Given the description of an element on the screen output the (x, y) to click on. 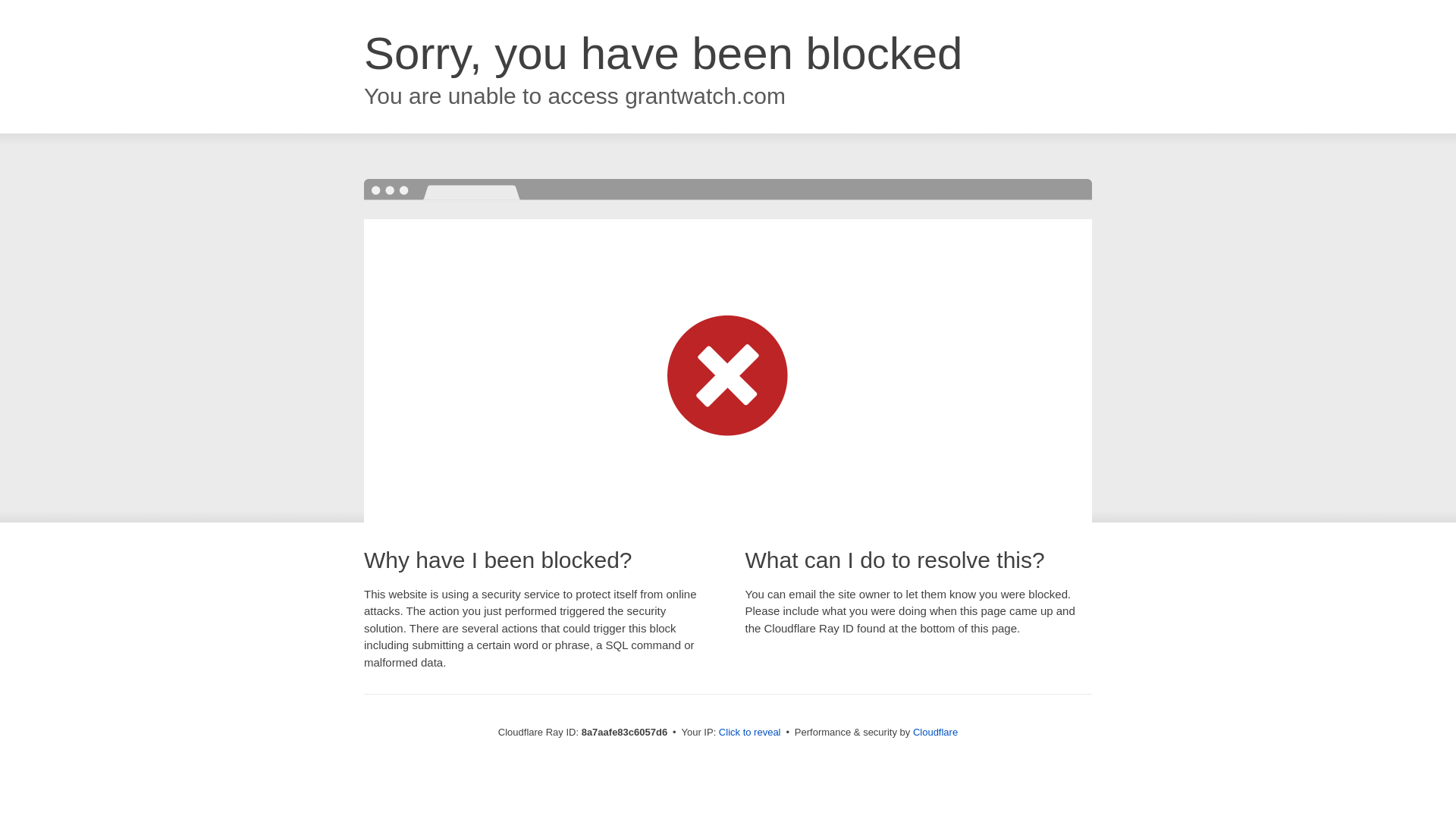
Click to reveal (749, 732)
Cloudflare (935, 731)
